Given the description of an element on the screen output the (x, y) to click on. 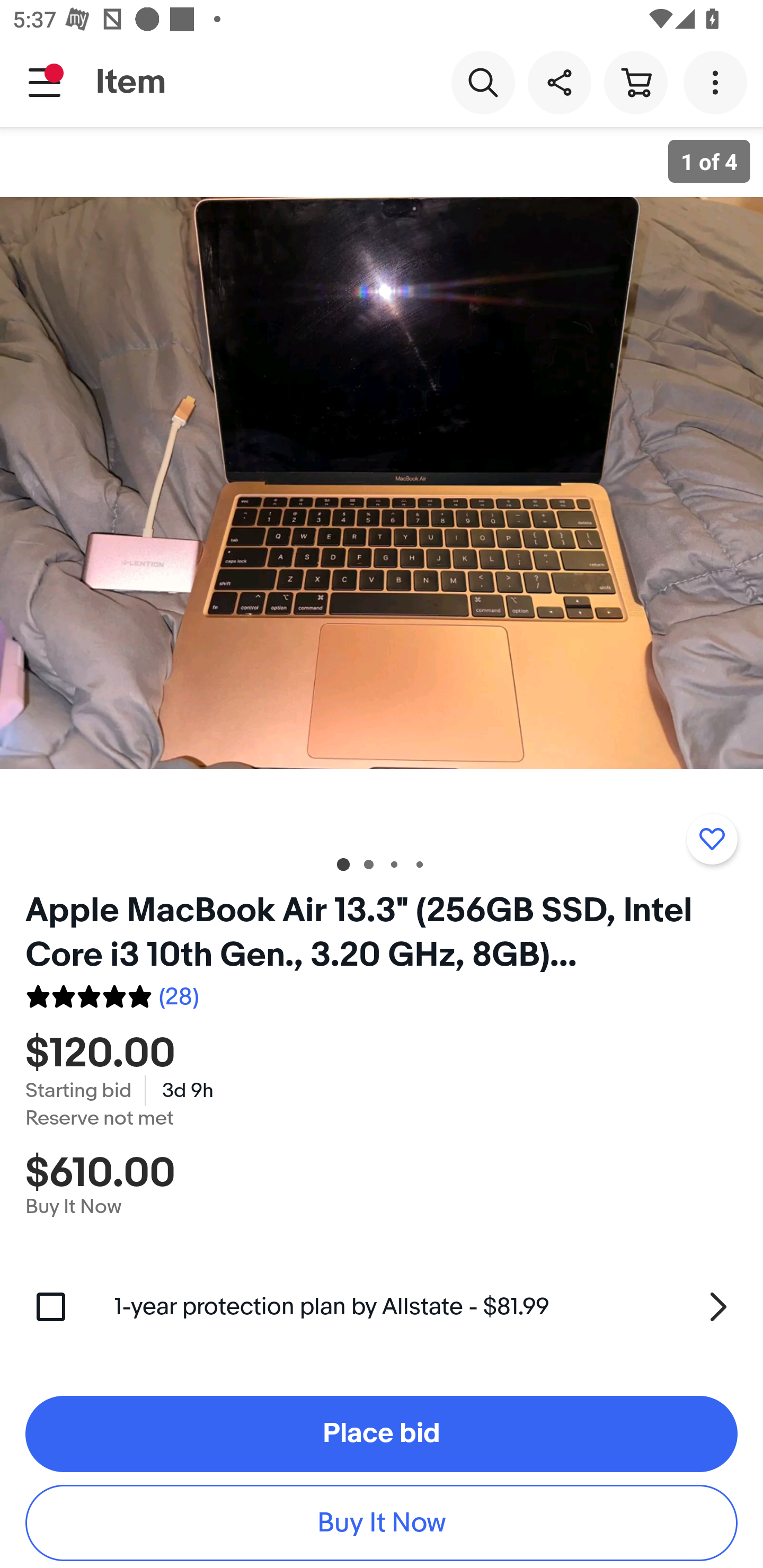
Main navigation, notification is pending, open (44, 82)
Search (482, 81)
Share this item (559, 81)
Cart button shopping cart (635, 81)
More options (718, 81)
Item image 1 of 4 (381, 482)
Add to watchlist (711, 838)
1-year protection plan by Allstate - $81.99 (425, 1306)
Place bid (381, 1433)
Buy It Now (381, 1522)
